Given the description of an element on the screen output the (x, y) to click on. 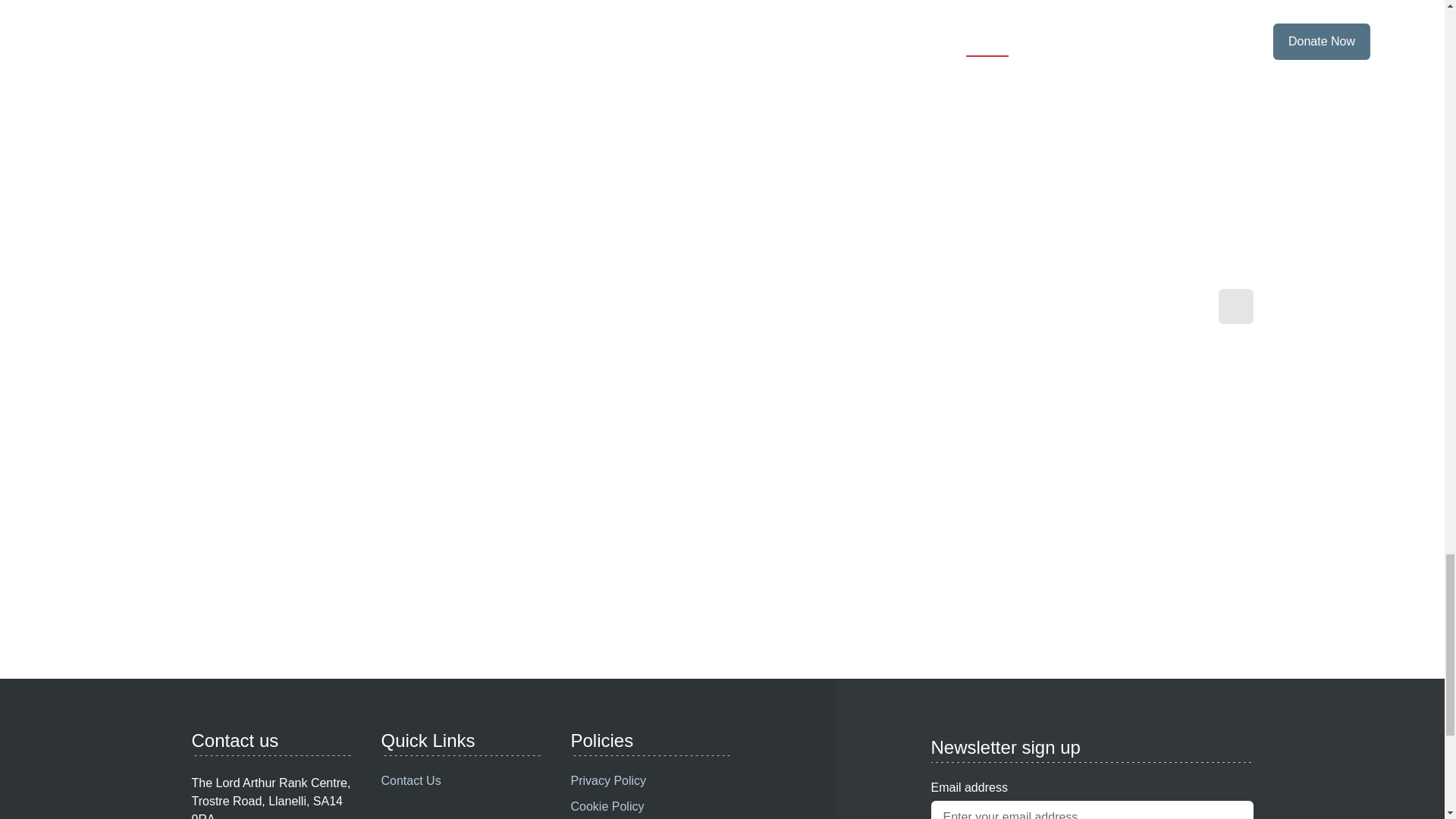
Privacy Policy (649, 780)
Cookie Policy (649, 807)
Contact Us (460, 780)
